Given the description of an element on the screen output the (x, y) to click on. 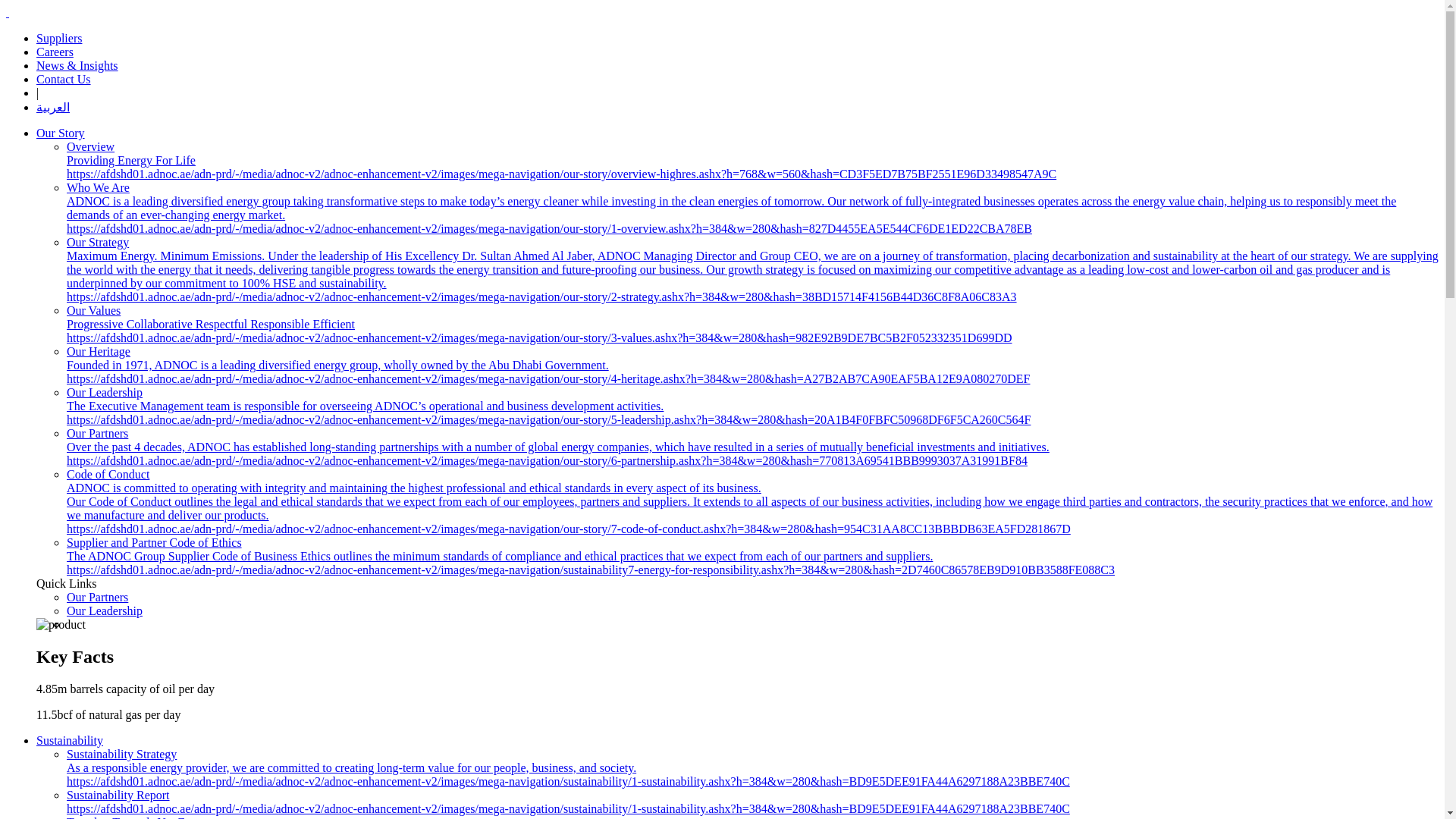
Sustainability (69, 739)
Suppliers (58, 38)
Careers (55, 51)
Our Partners (97, 596)
Our Leadership (104, 610)
Our Story (60, 132)
Contact Us (63, 78)
